Given the description of an element on the screen output the (x, y) to click on. 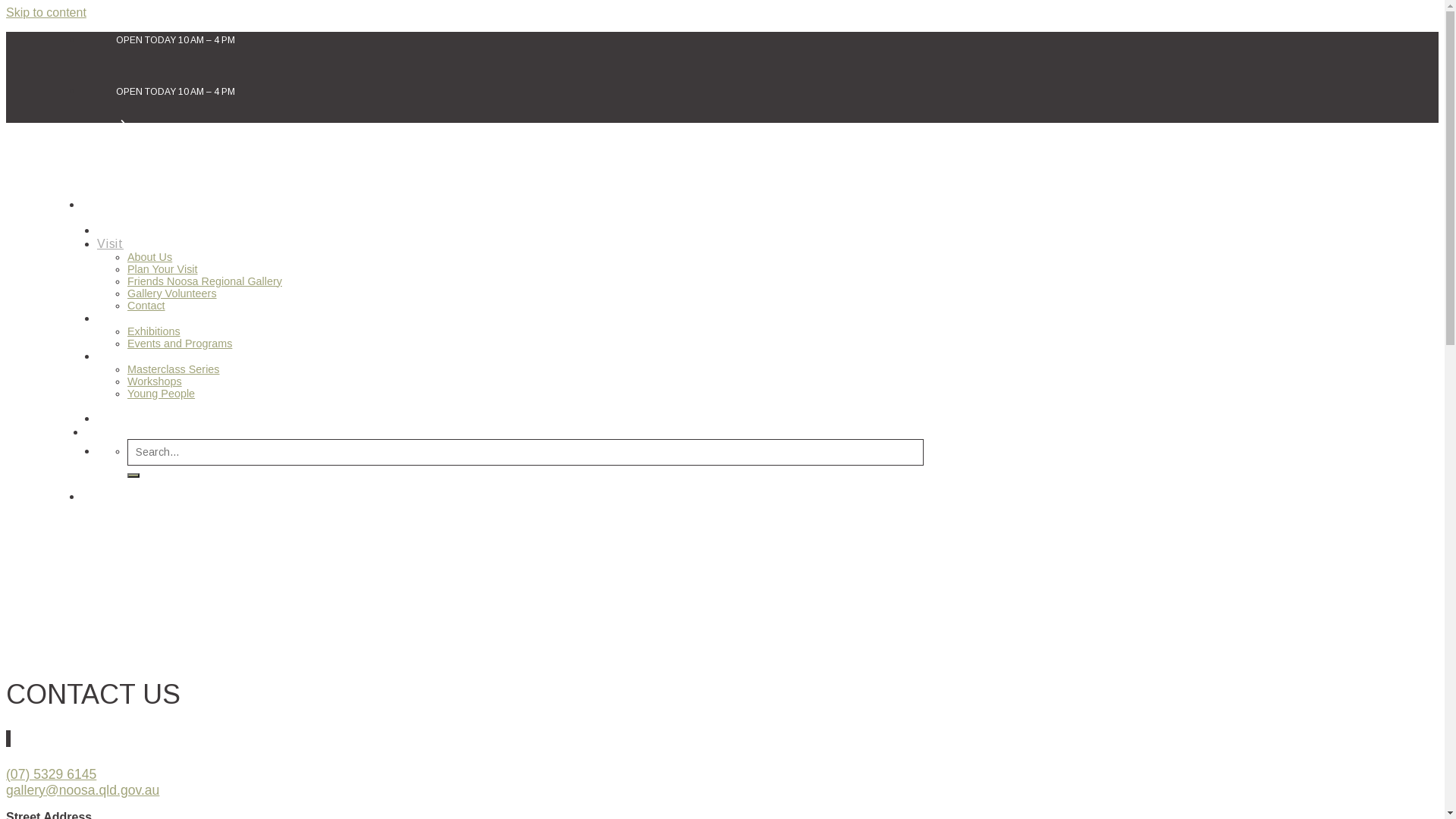
Friends Noosa Regional Gallery Element type: text (204, 280)
07 5329 6145 Element type: text (127, 430)
Skip to content Element type: text (46, 12)
Plan Your Visit Element type: text (162, 268)
Follow on Facebook Element type: hover (6, 738)
Workshops Element type: text (154, 380)
Learn Element type: text (113, 354)
Masterclass Series Element type: text (173, 368)
Follow on YouTube Element type: hover (9, 738)
Follow on Instagram Element type: hover (8, 738)
About Us Element type: text (149, 256)
Visit Element type: text (110, 242)
Young People Element type: text (160, 392)
Home Element type: text (114, 228)
Gallery Volunteers Element type: text (171, 292)
Contact Element type: text (146, 304)
(07) 5329 6145 Element type: text (51, 773)
Events and Programs Element type: text (179, 342)
gallery@noosa.qld.gov.au Element type: text (82, 789)
Noosa Regional Gallery - N/A Element type: hover (118, 161)
Exhibitions Element type: text (153, 330)
